Given the description of an element on the screen output the (x, y) to click on. 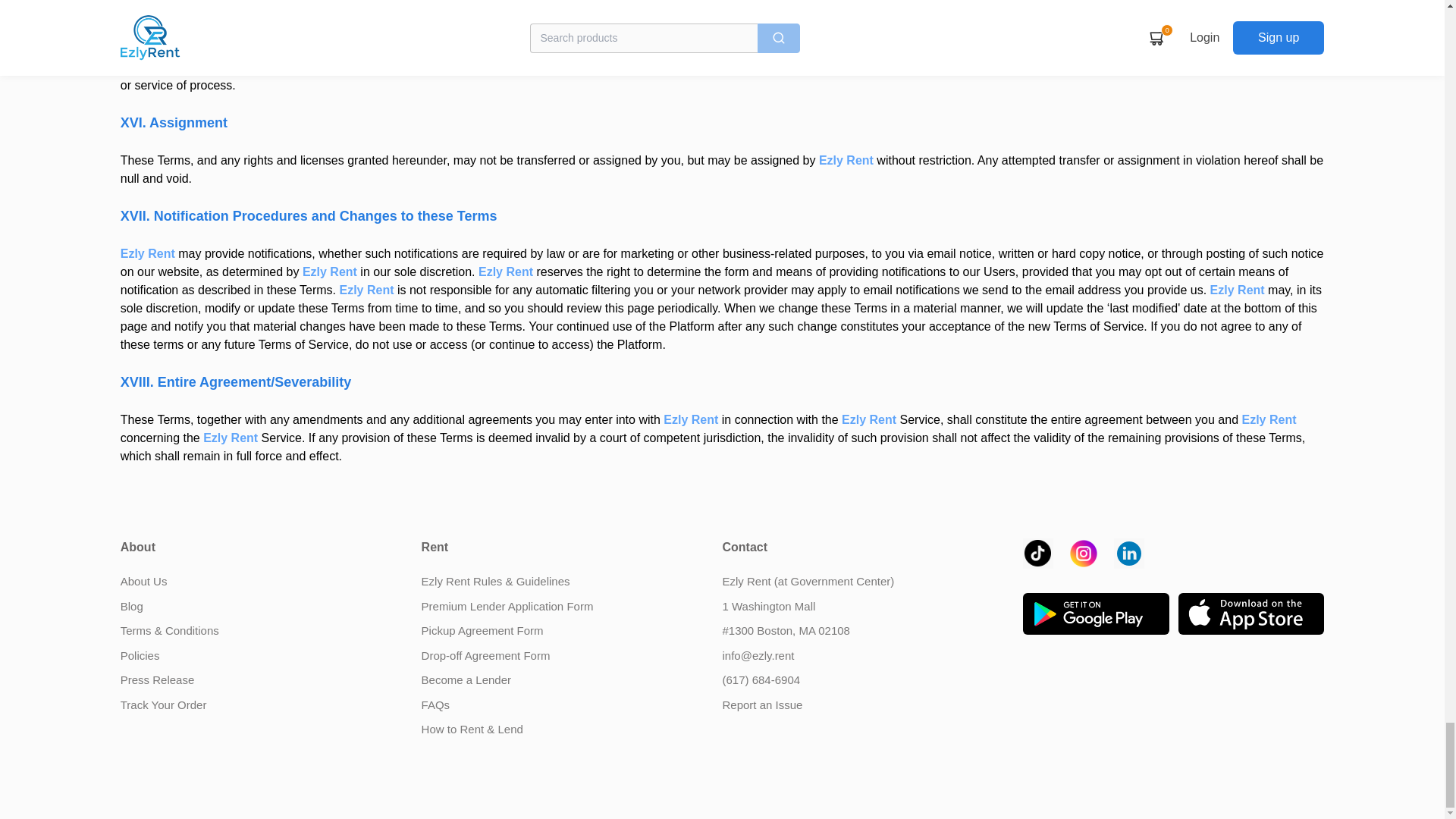
Track Your Order (163, 704)
Press Release (157, 679)
About Us (143, 581)
Blog (131, 605)
Policies (140, 655)
